Given the description of an element on the screen output the (x, y) to click on. 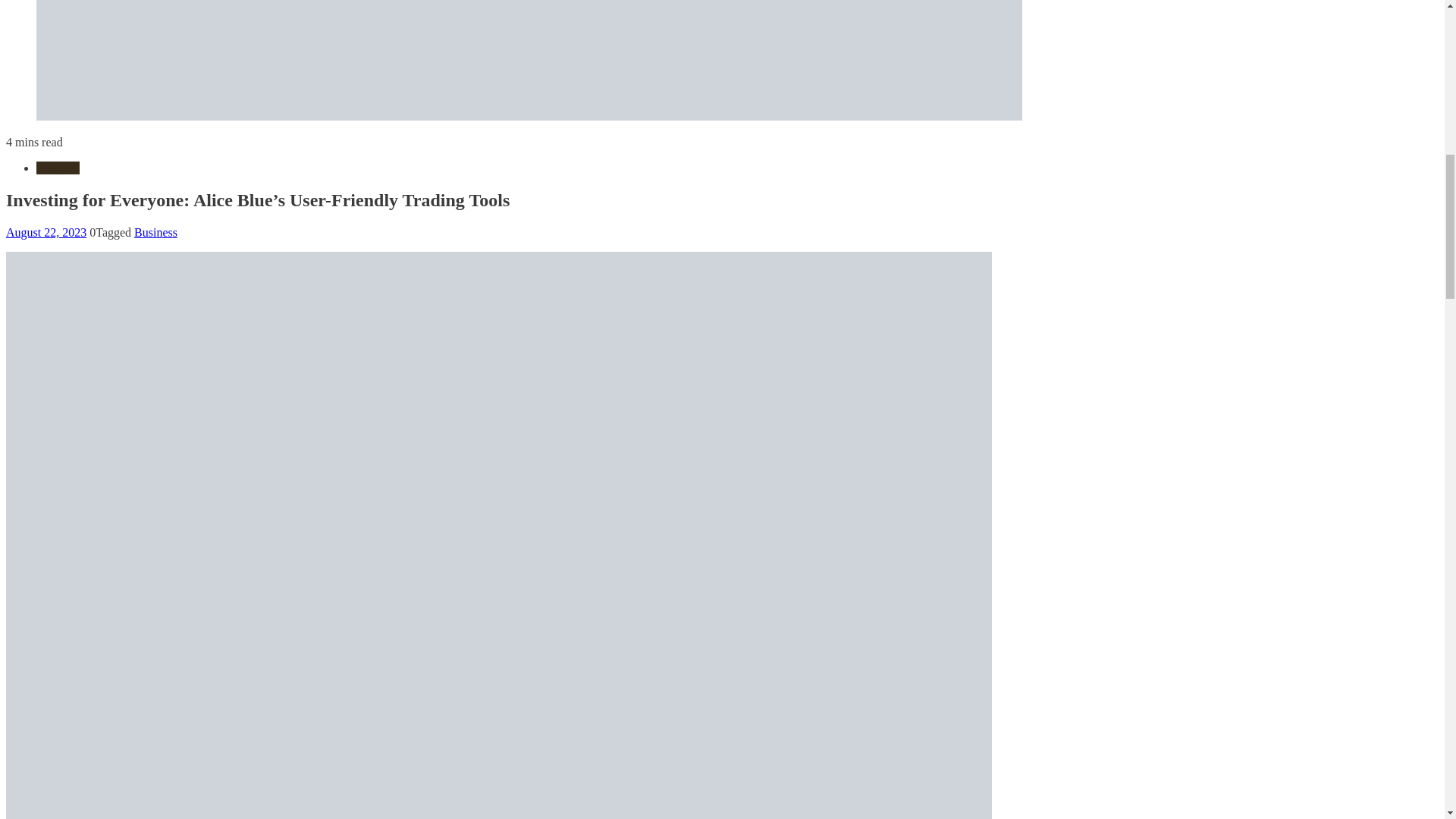
Business (58, 167)
Business (155, 232)
August 22, 2023 (45, 232)
